Given the description of an element on the screen output the (x, y) to click on. 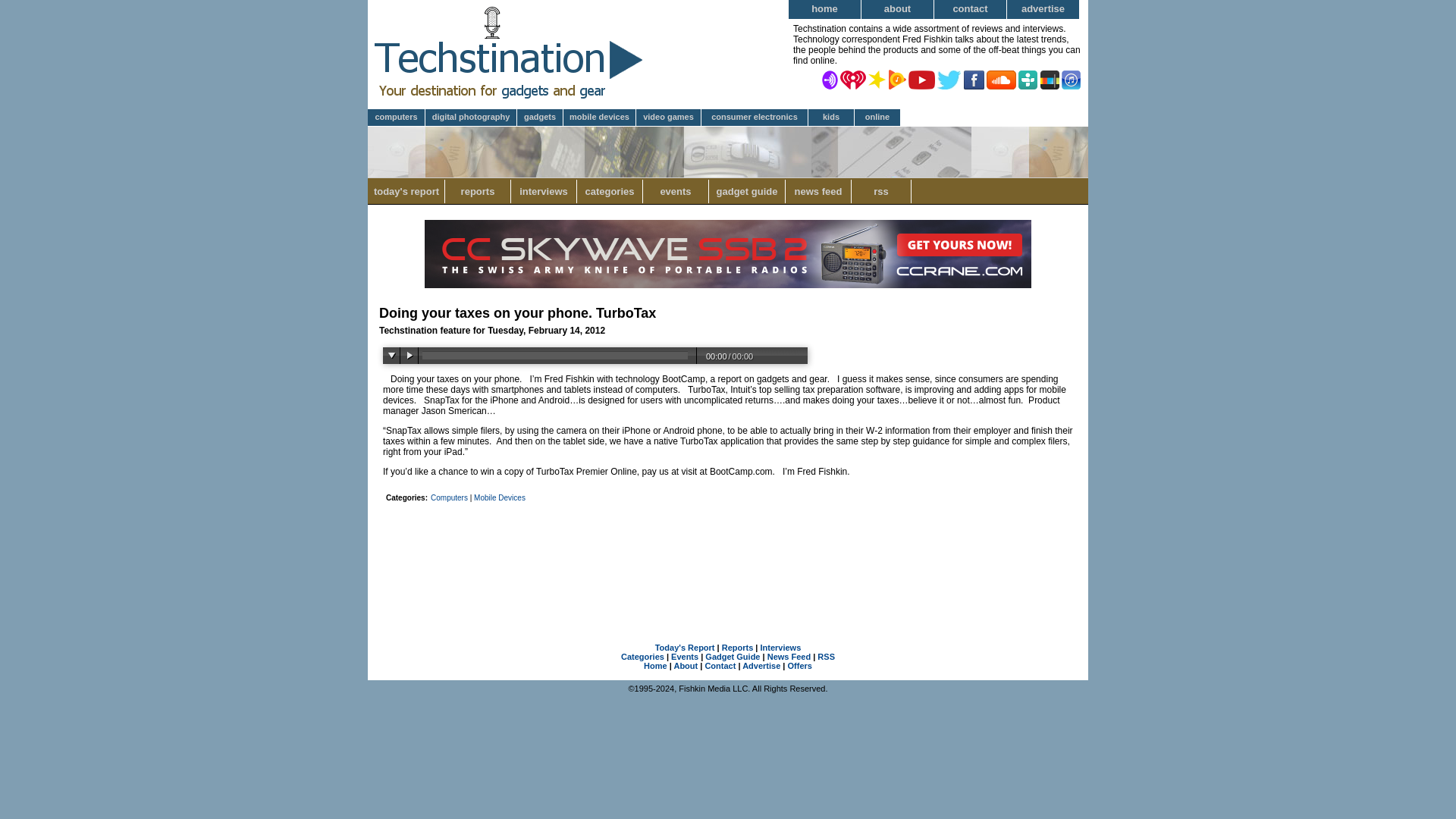
Listen to Techstination on Google Play Music (896, 78)
events (676, 191)
Advertisement (727, 549)
kids (831, 117)
Listen to Techstination on iHeartRadio (853, 78)
Advertisement (609, 191)
video games (727, 607)
contact (668, 117)
Follow Techstination on Twitter (970, 9)
online (948, 78)
gadget guide (877, 117)
today's report (747, 191)
reports (406, 191)
consumer electronics (478, 191)
